Given the description of an element on the screen output the (x, y) to click on. 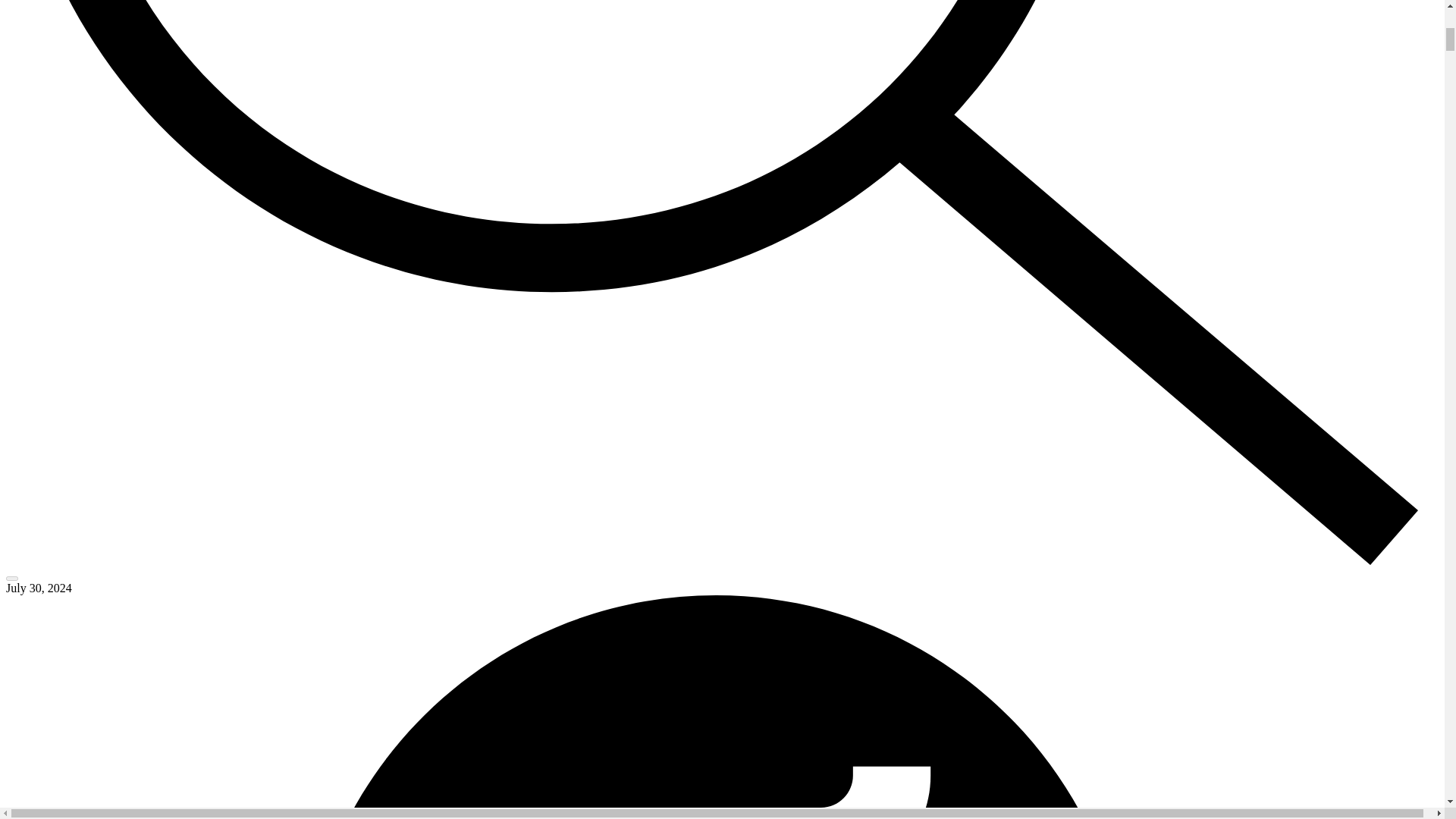
Mobile menu (11, 578)
